Given the description of an element on the screen output the (x, y) to click on. 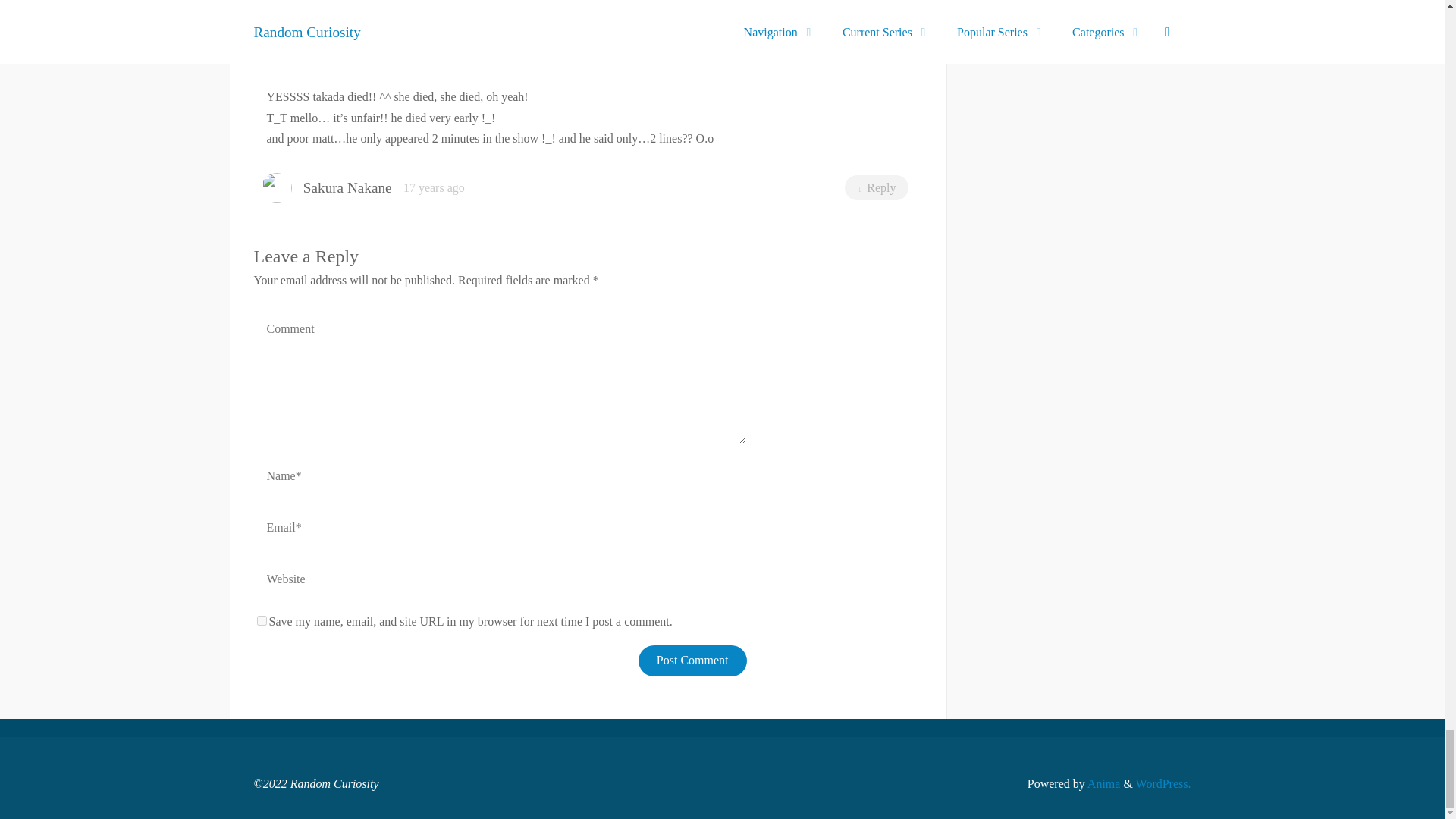
Anima WordPress Theme by Cryout Creations (1102, 783)
Semantic Personal Publishing Platform (1163, 783)
yes (261, 620)
Post Comment (692, 660)
